Given the description of an element on the screen output the (x, y) to click on. 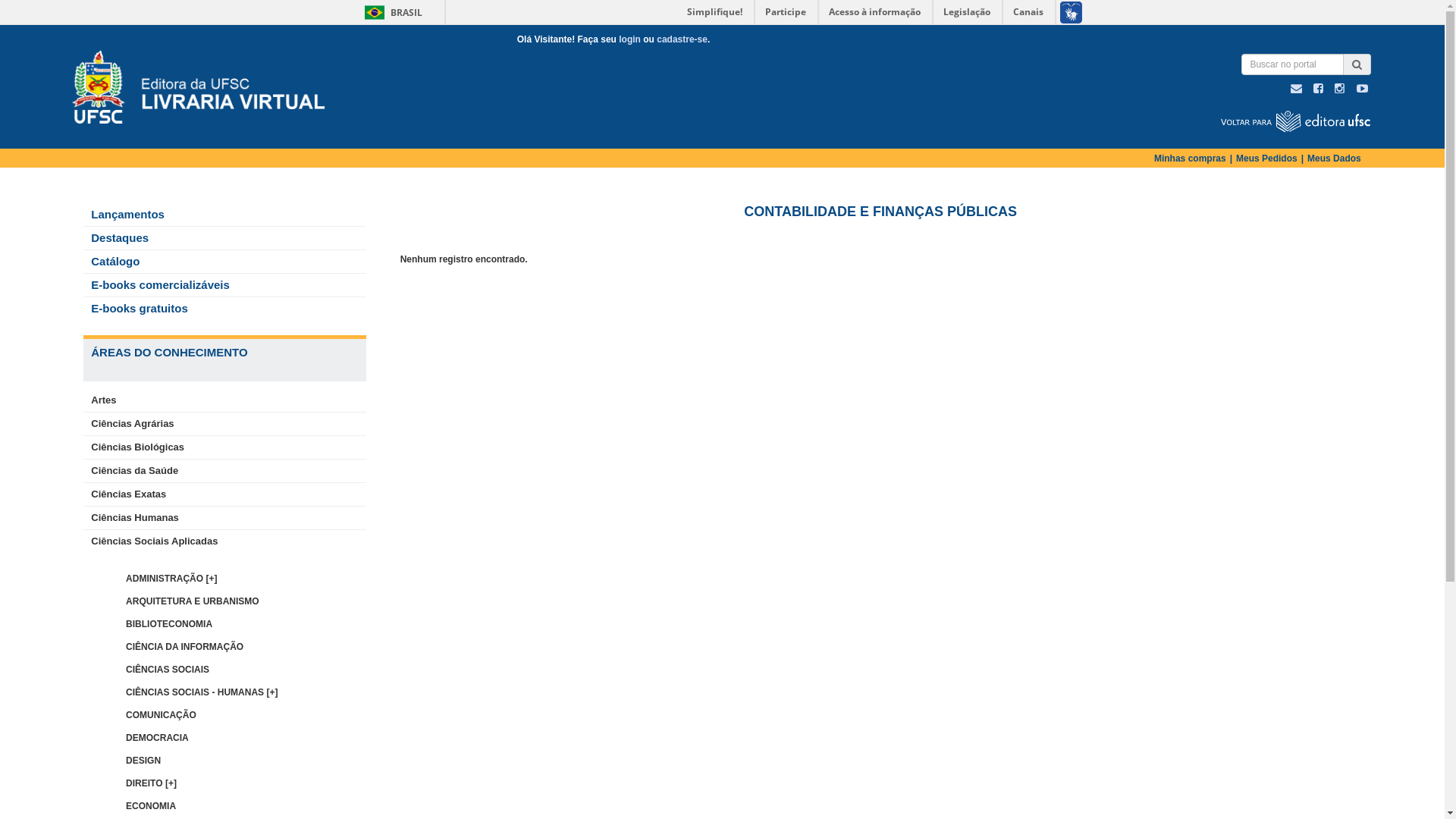
Minhas compras| Element type: text (1195, 158)
login Element type: text (629, 39)
BIBLIOTECONOMIA Element type: text (168, 623)
DEMOCRACIA Element type: text (156, 737)
E-books gratuitos Element type: text (135, 307)
ARQUITETURA E URBANISMO Element type: text (192, 601)
Destaques Element type: text (115, 237)
Meus Pedidos| Element type: text (1271, 158)
Artes Element type: text (99, 399)
cadastre-se Element type: text (681, 39)
ECONOMIA Element type: text (150, 805)
DIREITO [+] Element type: text (150, 783)
BRASIL Element type: text (373, 12)
DESIGN Element type: text (142, 760)
Meus Dados Element type: text (1334, 158)
